Given the description of an element on the screen output the (x, y) to click on. 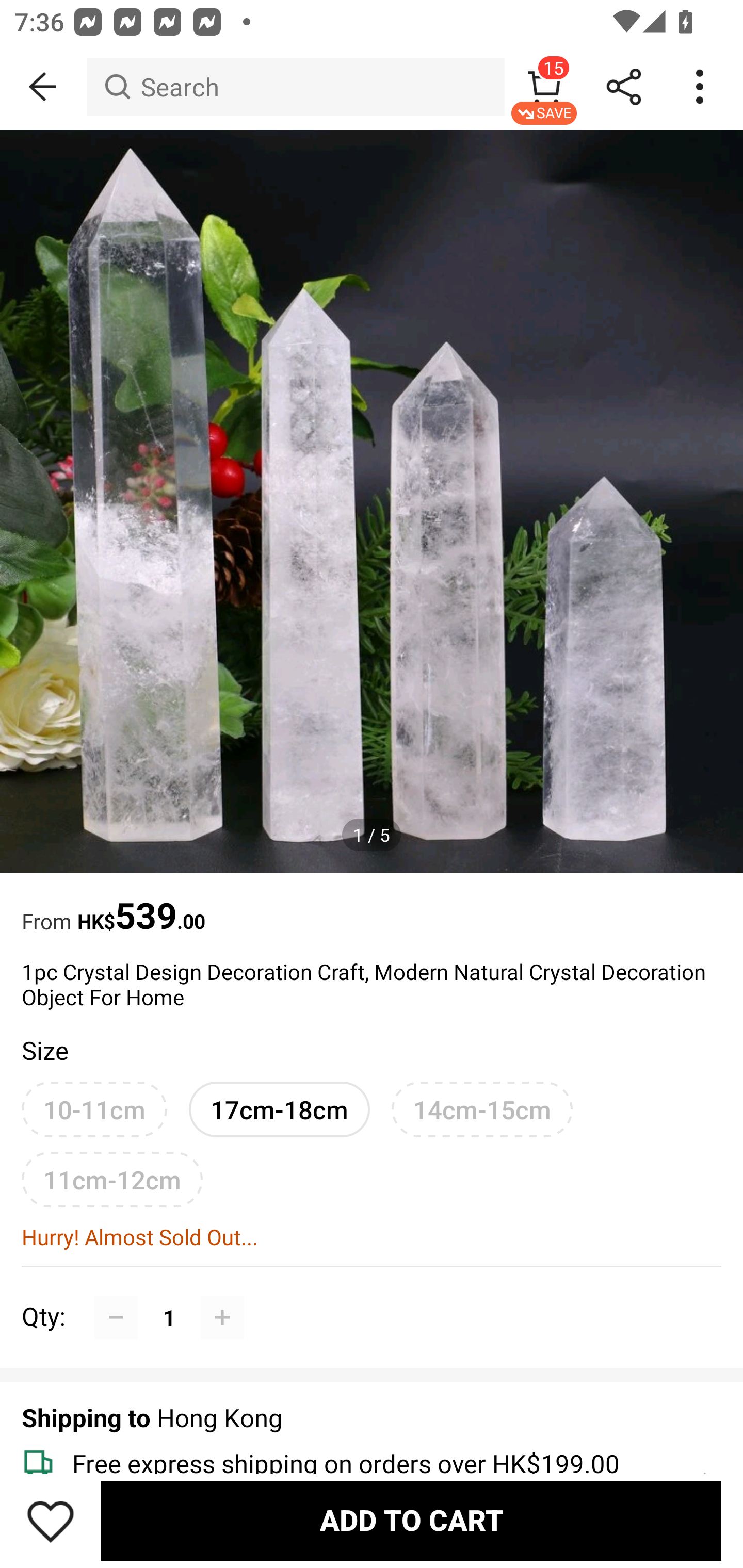
BACK (43, 86)
15 SAVE (543, 87)
Search (295, 87)
PHOTOS 1 / 5 (371, 501)
1 / 5 (371, 834)
From  HK$539.00 (371, 906)
Size (44, 1050)
10-11cm (94, 1108)
17cm-18cm 17cm-18cmunselected option (279, 1108)
14cm-15cm (481, 1108)
11cm-12cm (111, 1179)
Hurry! Almost Sold Out... (371, 1236)
Qty: 1 (371, 1295)
ADD TO CART (411, 1520)
Save (50, 1520)
